Given the description of an element on the screen output the (x, y) to click on. 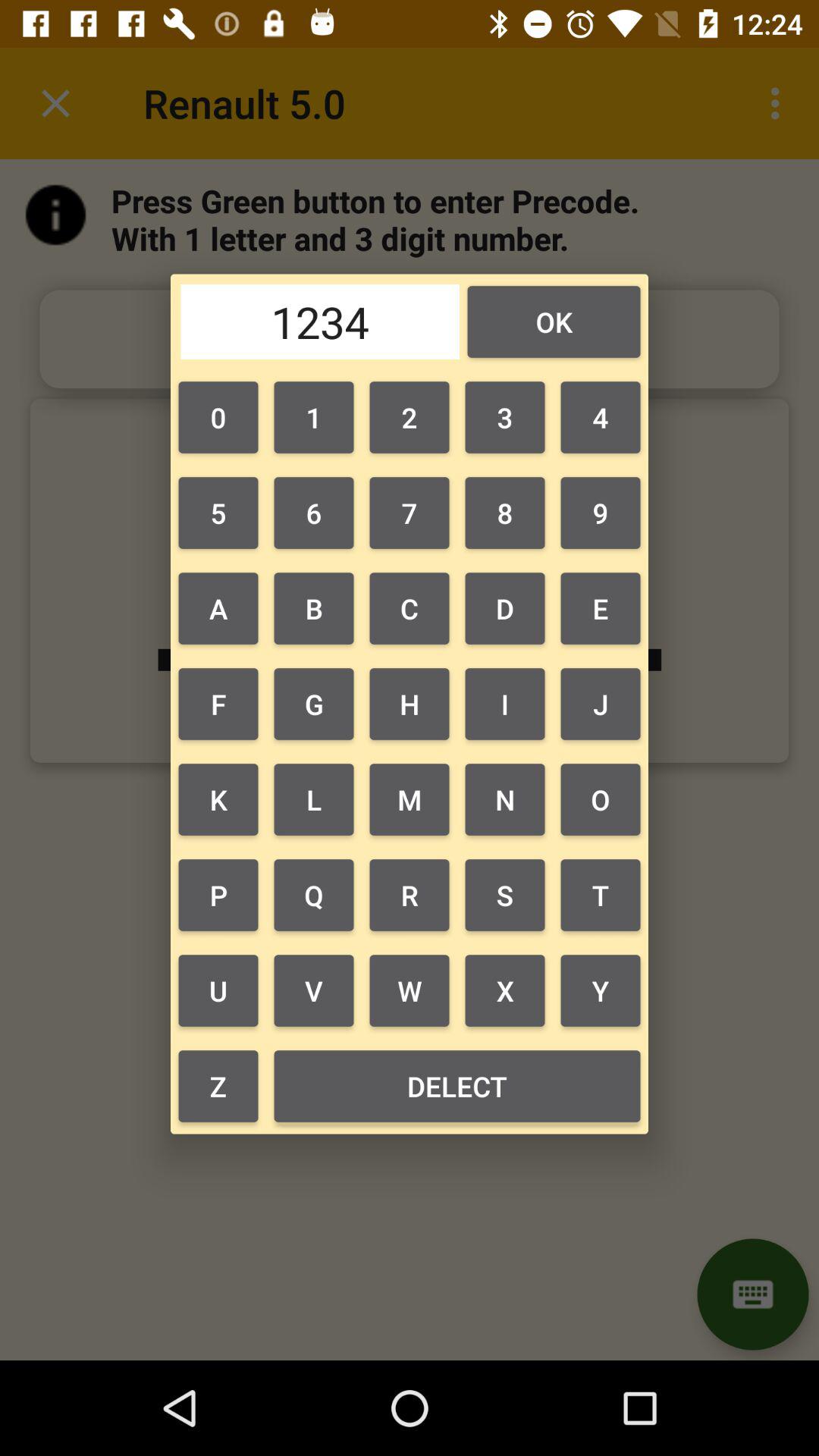
tap item next to l button (409, 894)
